Given the description of an element on the screen output the (x, y) to click on. 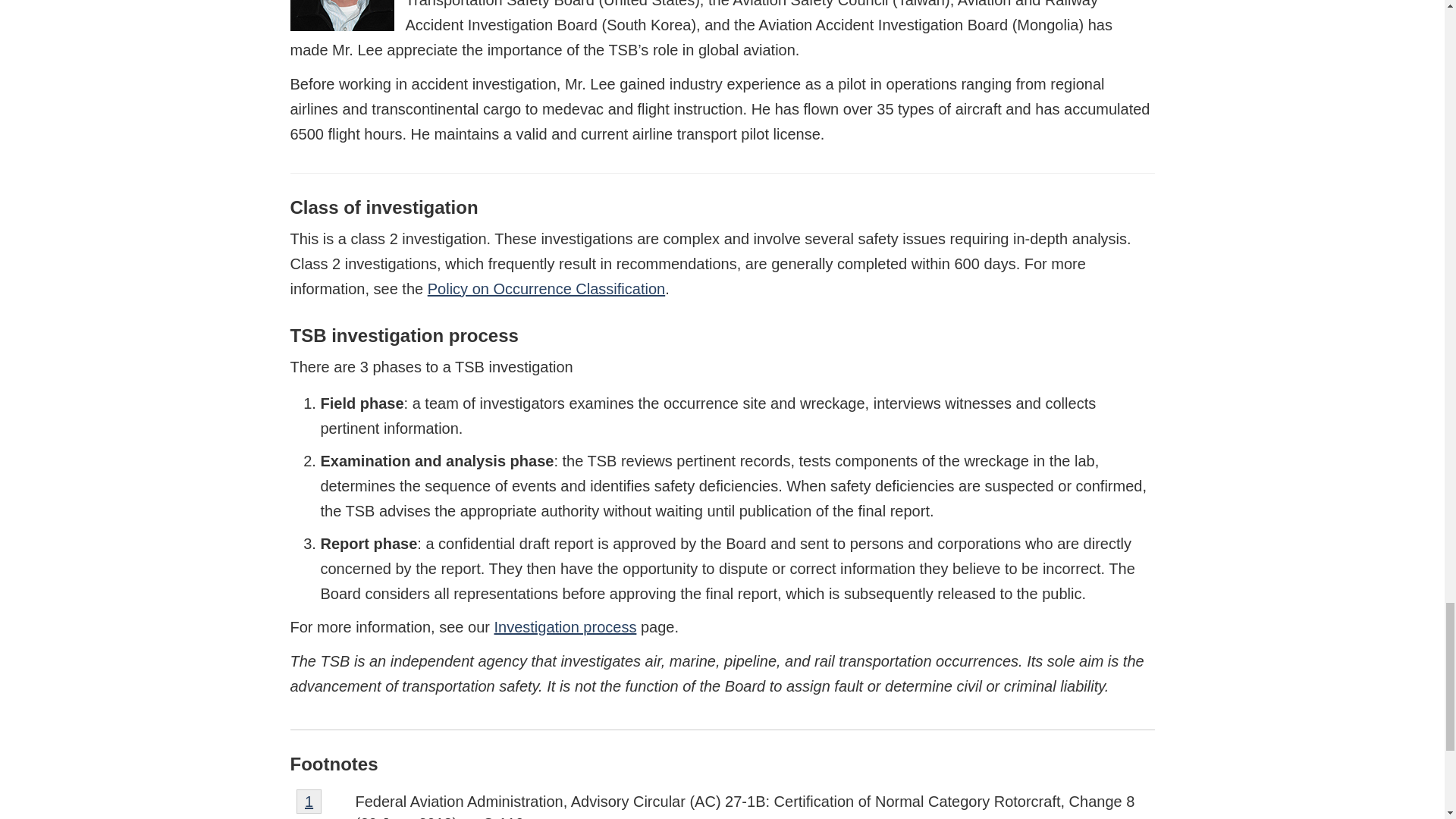
Policy on Occurrence Classification (546, 288)
Investigation process (566, 627)
